Given the description of an element on the screen output the (x, y) to click on. 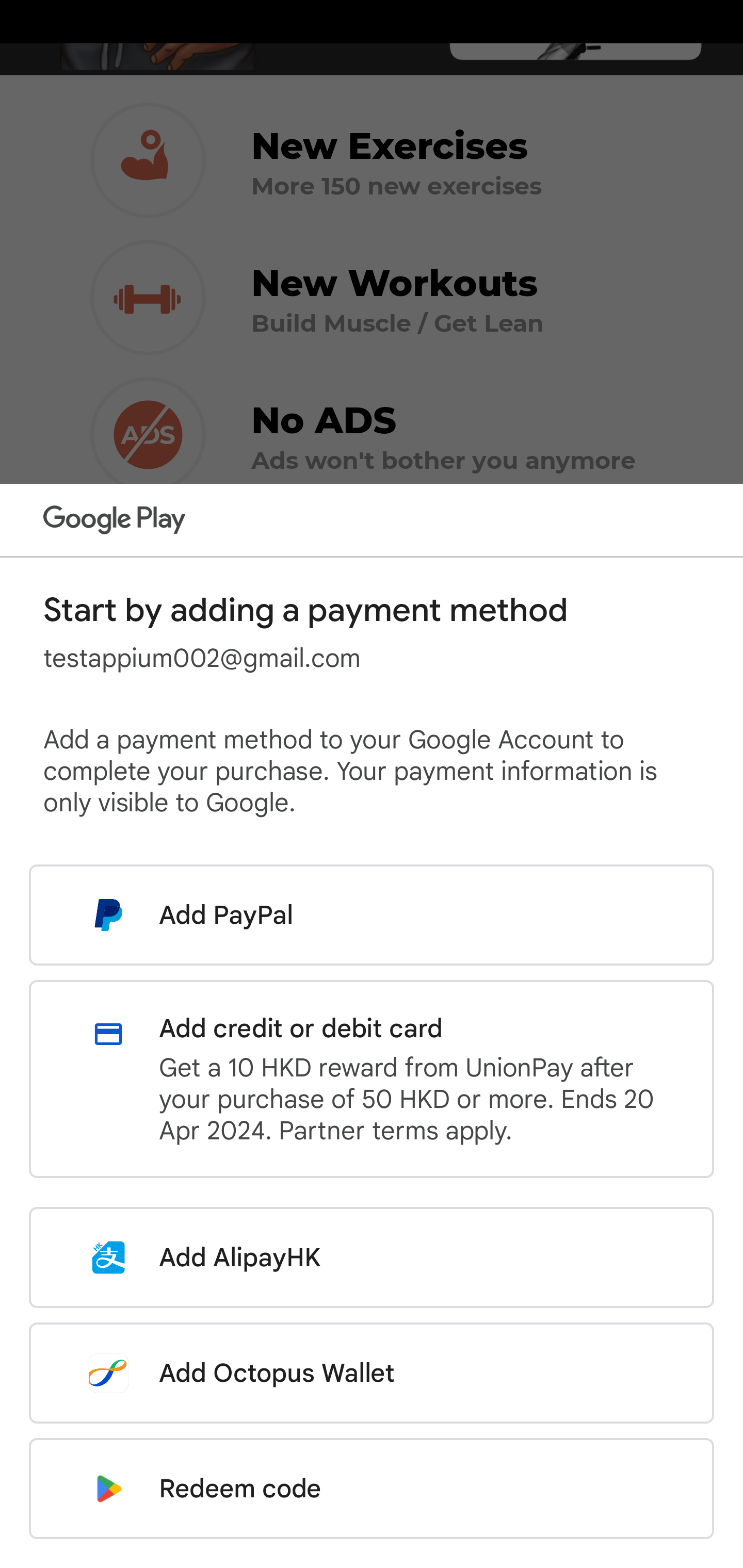
Add PayPal (371, 914)
Add AlipayHK (371, 1257)
Add Octopus Wallet (371, 1372)
Redeem code (371, 1488)
